Given the description of an element on the screen output the (x, y) to click on. 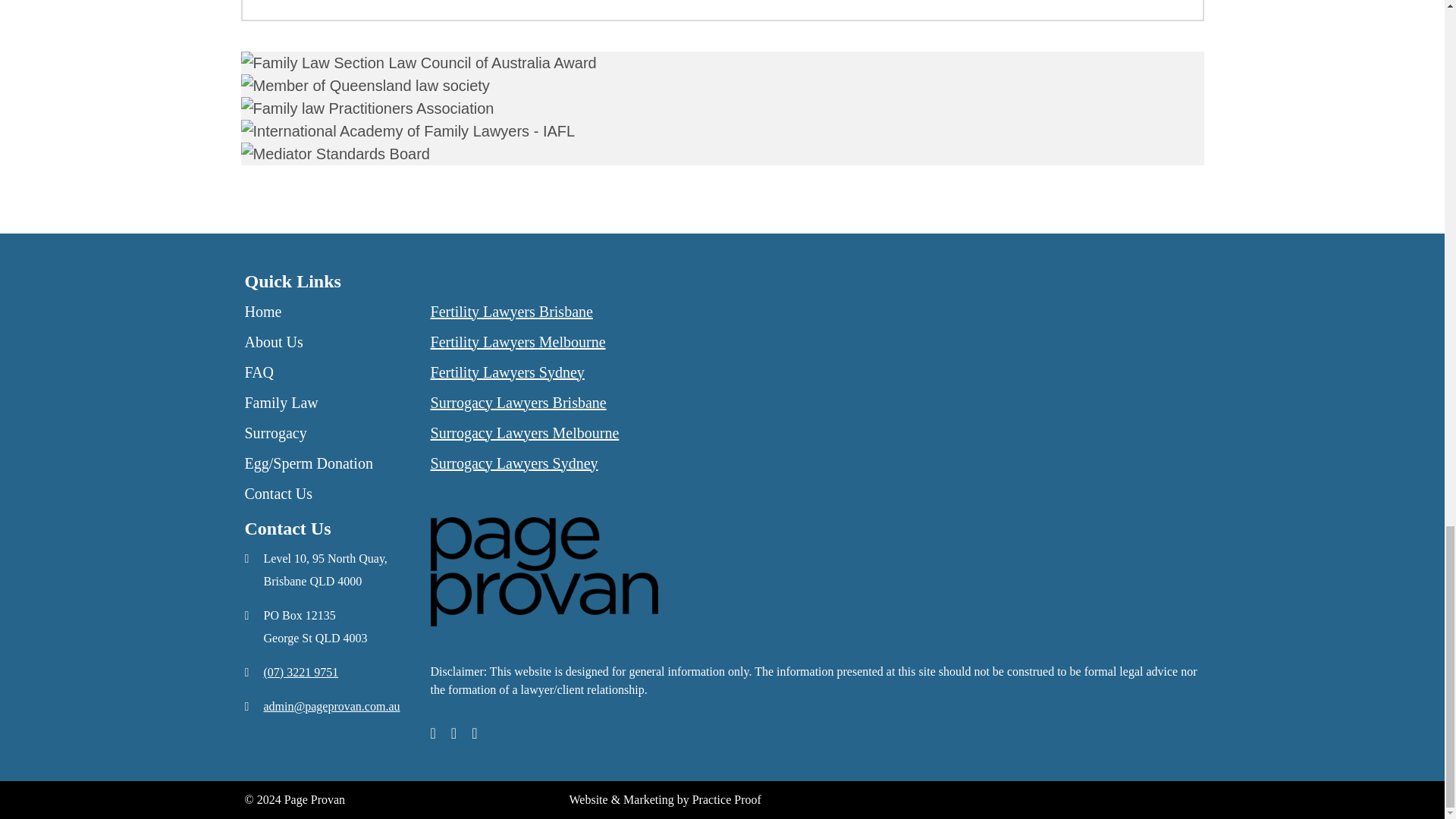
mediator-standards-board (335, 153)
international-academy-of-family-lawyers (408, 130)
family-law-section (418, 62)
family-law-practitioners-association (368, 108)
member-of-queensland-law-society (365, 85)
